Given the description of an element on the screen output the (x, y) to click on. 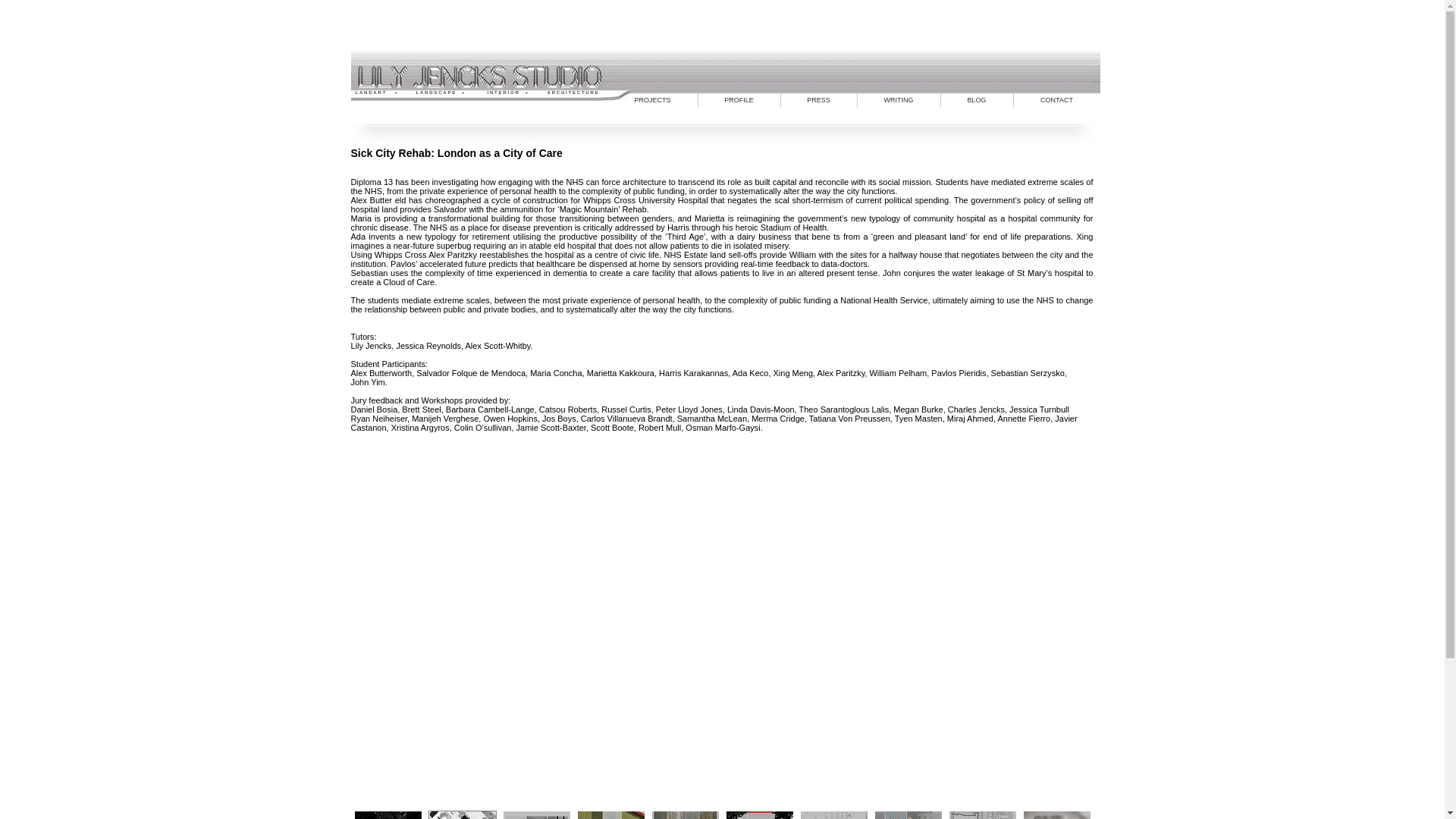
PROFILE (737, 99)
WRITING (898, 99)
PRESS (818, 99)
CONTACT (1056, 99)
BLOG (975, 99)
logo-darker.jpg (724, 68)
PROJECTS (652, 99)
